Given the description of an element on the screen output the (x, y) to click on. 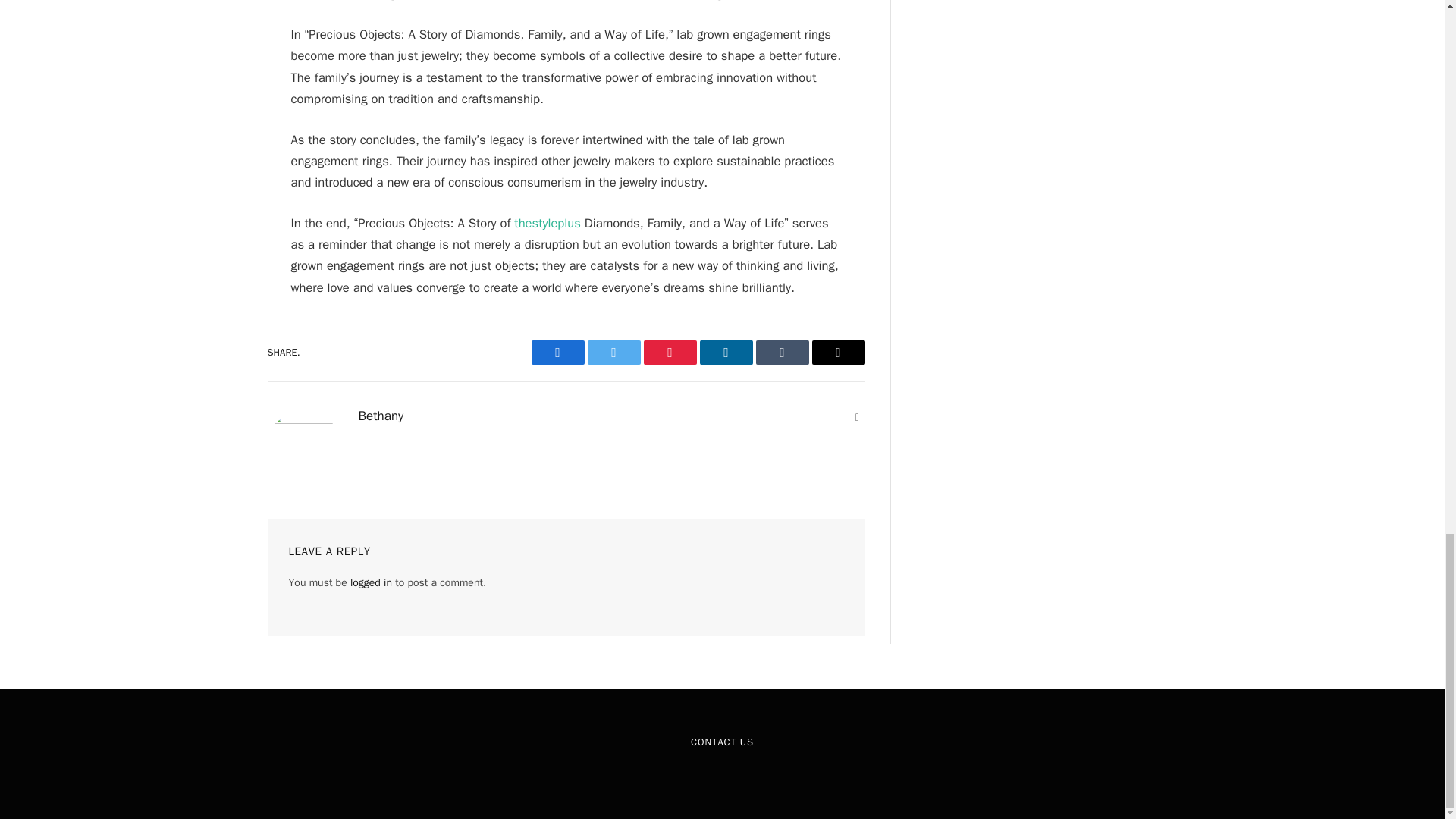
Facebook (557, 352)
Twitter (613, 352)
thestyleplus (546, 222)
